Given the description of an element on the screen output the (x, y) to click on. 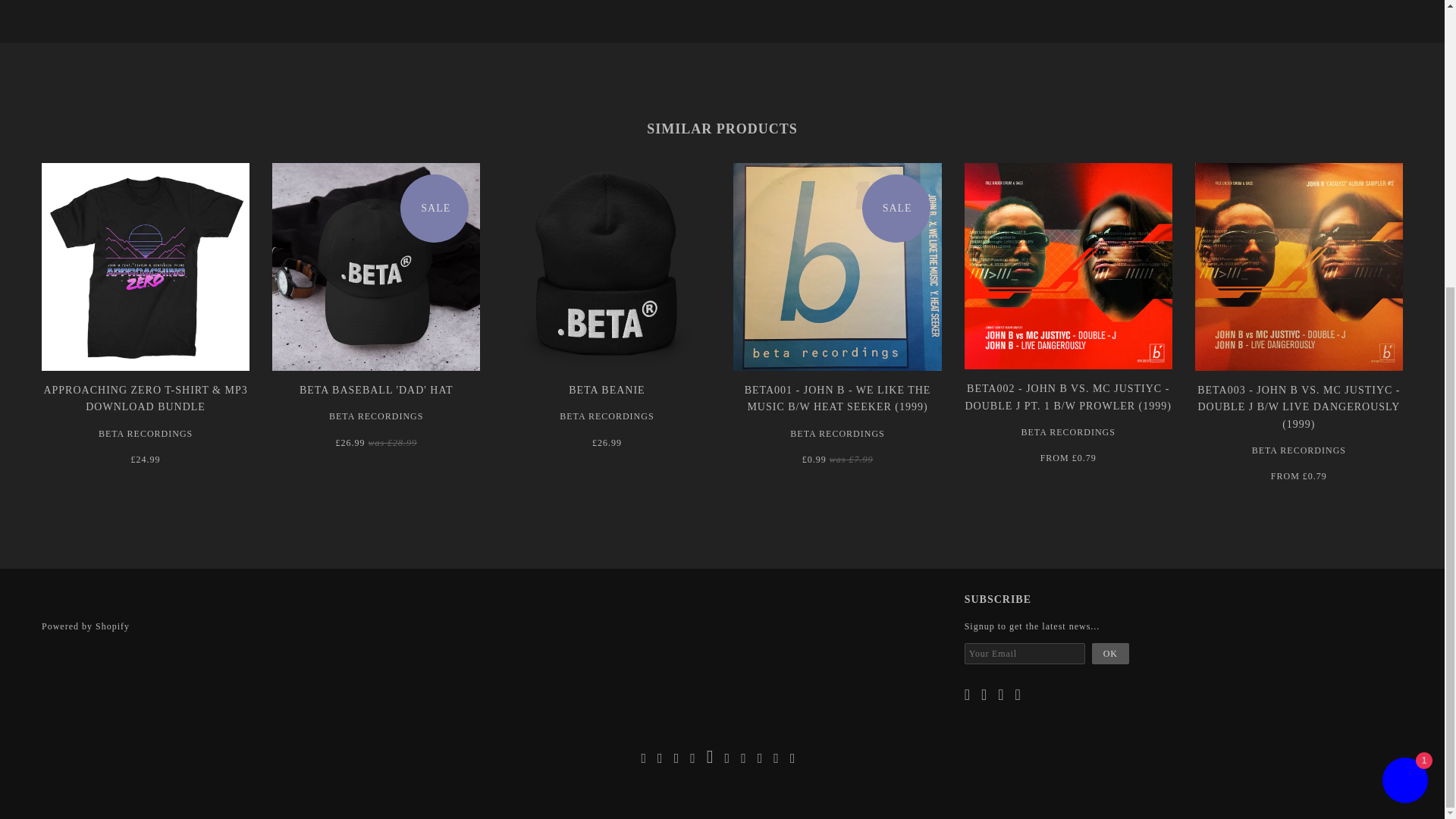
OK (1110, 653)
